Given the description of an element on the screen output the (x, y) to click on. 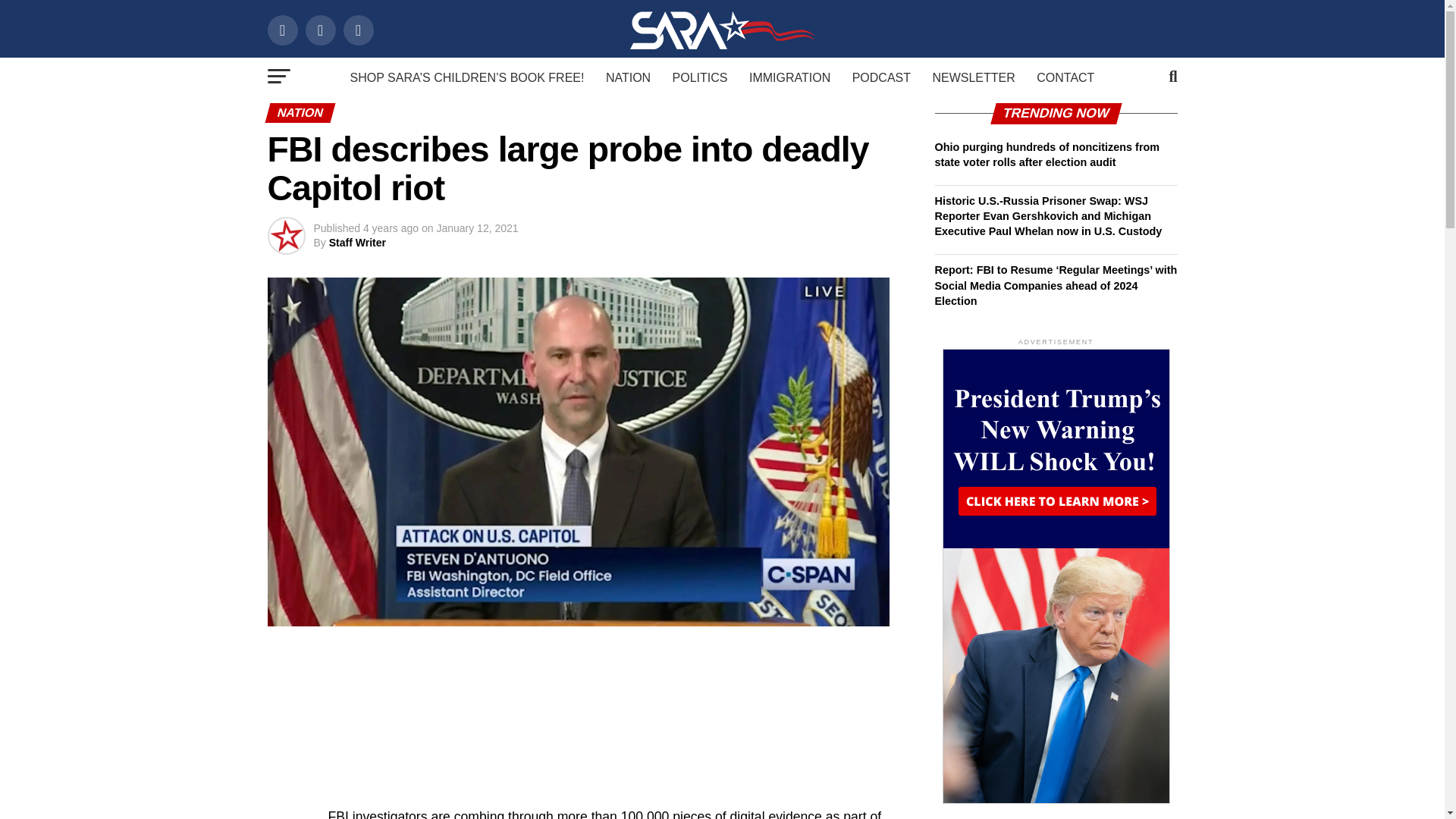
IMMIGRATION (789, 77)
PODCAST (881, 77)
NEWSLETTER (973, 77)
POLITICS (699, 77)
Posts by Staff Writer (357, 242)
Staff Writer (357, 242)
CONTACT (1065, 77)
NATION (627, 77)
FBI describes large probe into deadly Capitol riot 1 (577, 621)
